Given the description of an element on the screen output the (x, y) to click on. 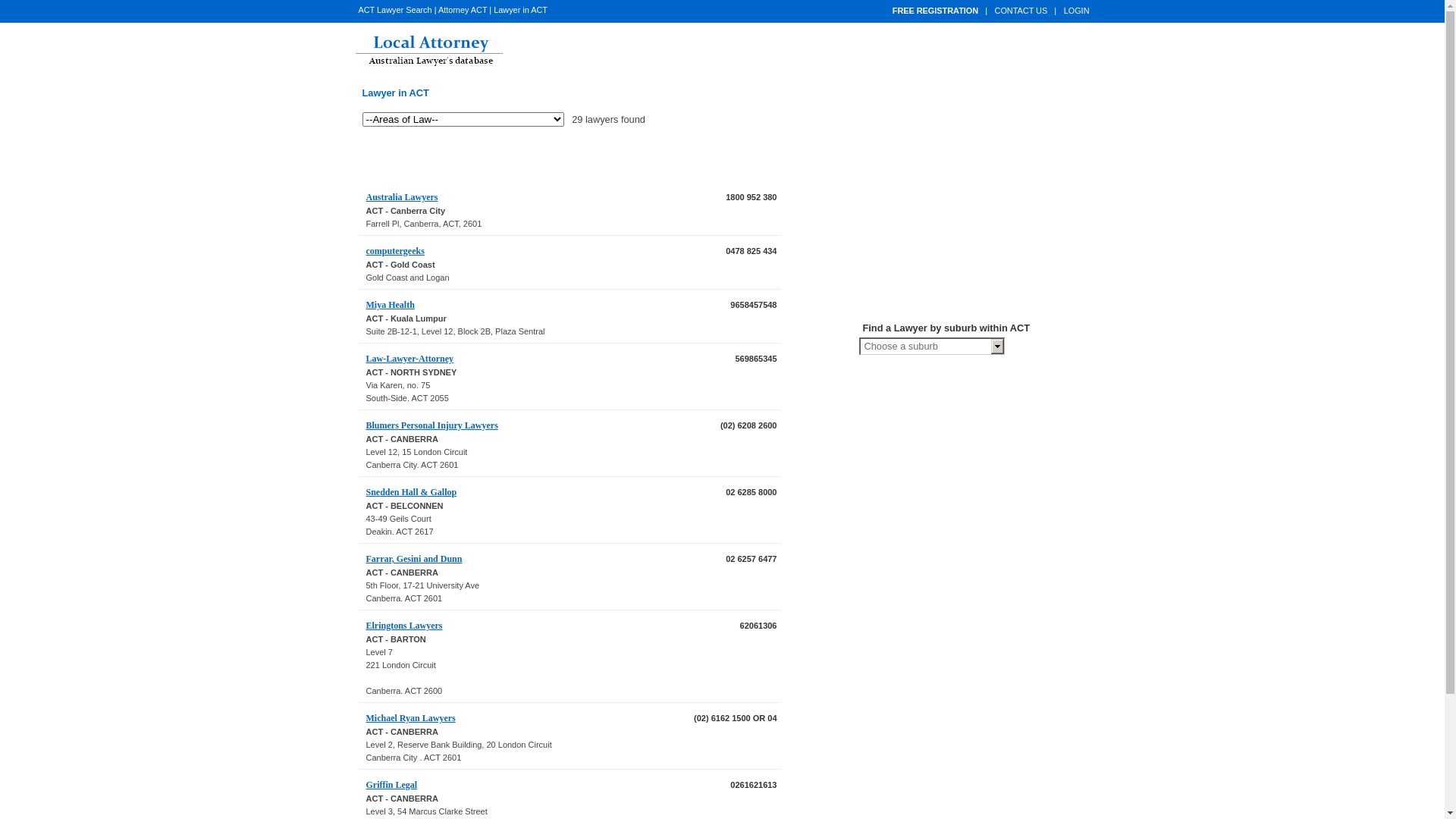
LOGIN Element type: text (1076, 10)
Farrar, Gesini and Dunn Element type: text (413, 558)
computergeeks Element type: text (394, 250)
CONTACT US Element type: text (1021, 10)
FREE REGISTRATION Element type: text (935, 10)
Lawyer in ACT Element type: text (395, 92)
Law-Lawyer-Attorney Element type: text (409, 358)
Michael Ryan Lawyers Element type: text (410, 717)
Advertisement Element type: hover (534, 160)
Snedden Hall & Gallop Element type: text (410, 491)
Advertisement Element type: hover (985, 200)
Miya Health Element type: text (389, 304)
Australia Lawyers Element type: text (401, 196)
Griffin Legal Element type: text (391, 784)
Blumers Personal Injury Lawyers Element type: text (431, 425)
Elringtons Lawyers Element type: text (403, 625)
